Given the description of an element on the screen output the (x, y) to click on. 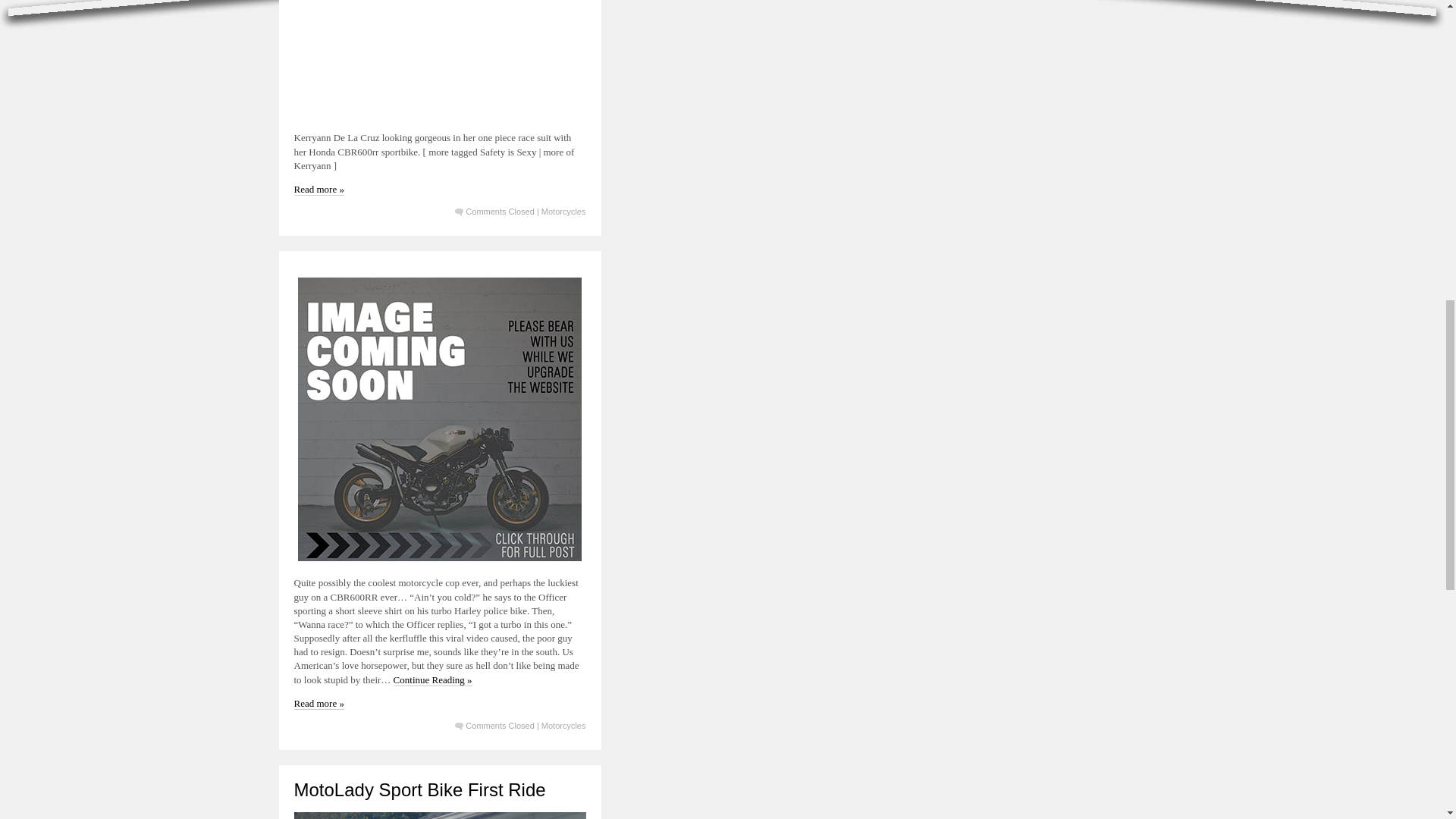
MotoLady Sport Bike First Ride (420, 789)
Motorcycles (563, 211)
Motorcycles (563, 725)
MotoLady Sport Bike First Ride (420, 789)
